Given the description of an element on the screen output the (x, y) to click on. 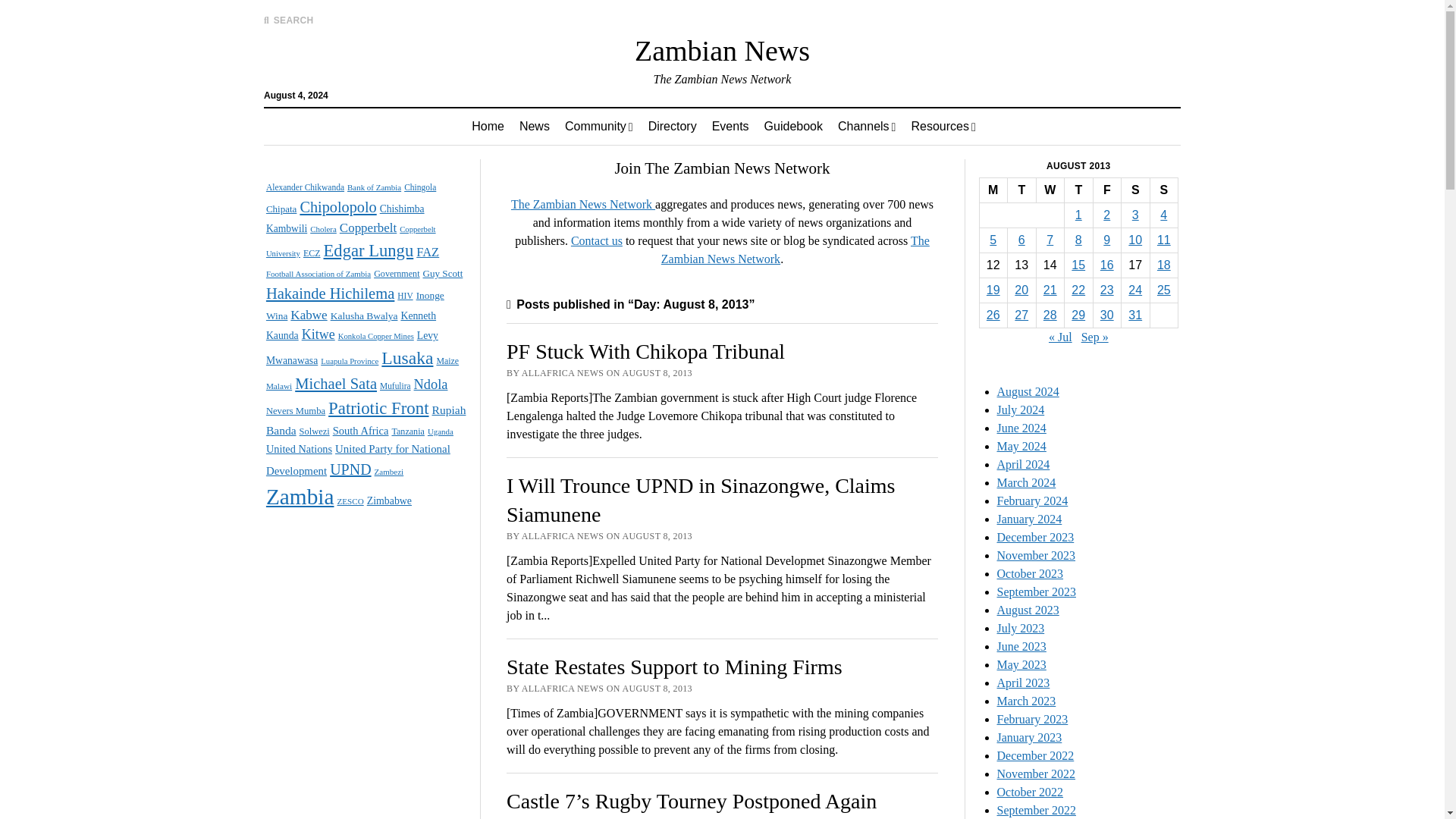
Home (488, 126)
Zambian News (535, 126)
Zambian News (721, 50)
Guidebook (793, 126)
Zambian Business Directory (672, 126)
Zambian Guidebook (793, 126)
Zambian Community (599, 126)
Alexander Chikwanda (304, 186)
News (535, 126)
Community (599, 126)
Channels (866, 126)
Home (488, 126)
SEARCH (288, 20)
Search (945, 129)
Events (730, 126)
